Given the description of an element on the screen output the (x, y) to click on. 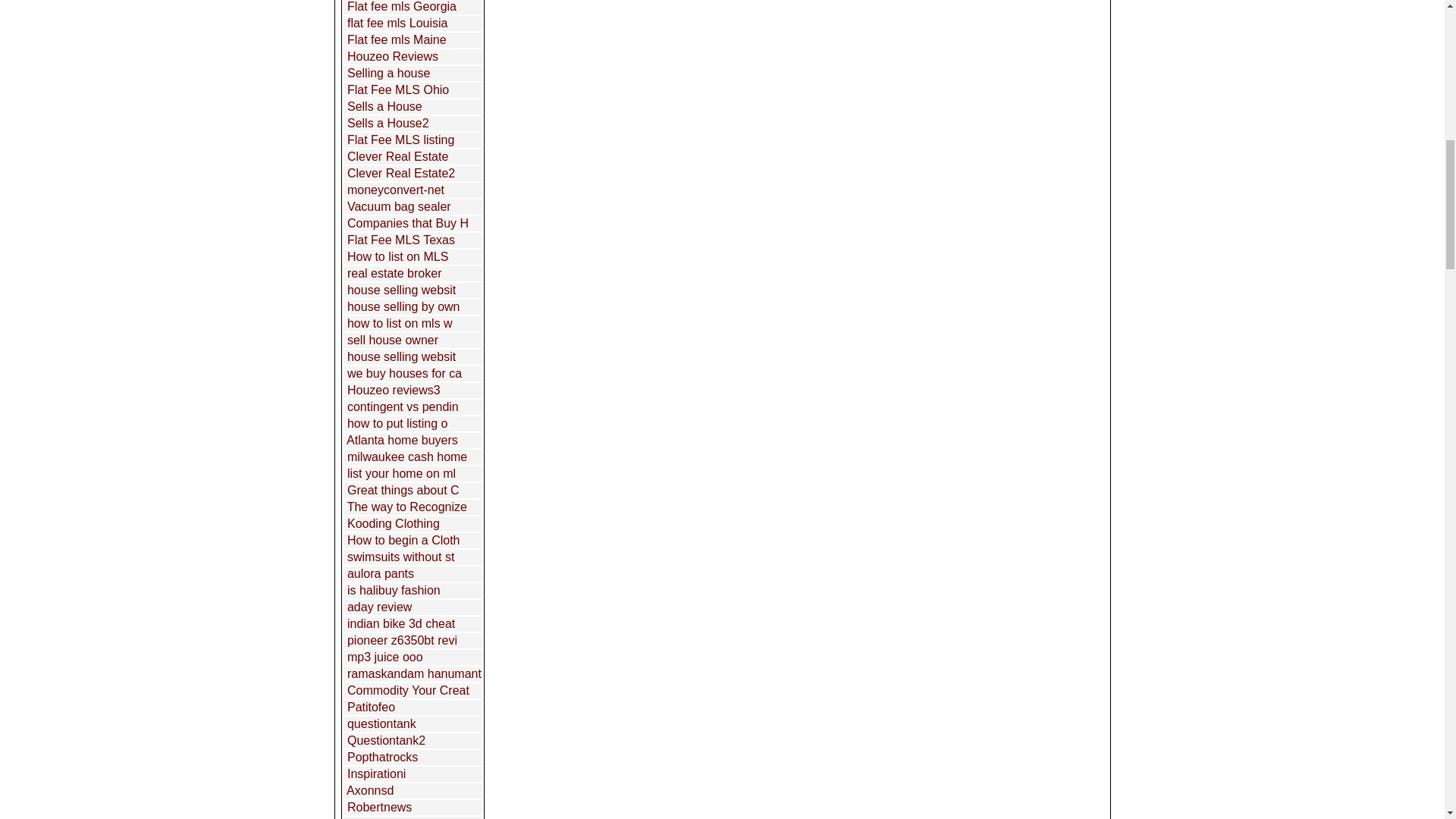
Flat fee mls Georgia (402, 6)
Flat fee mls Maine (396, 39)
flat fee mls Louisia (397, 22)
